Given the description of an element on the screen output the (x, y) to click on. 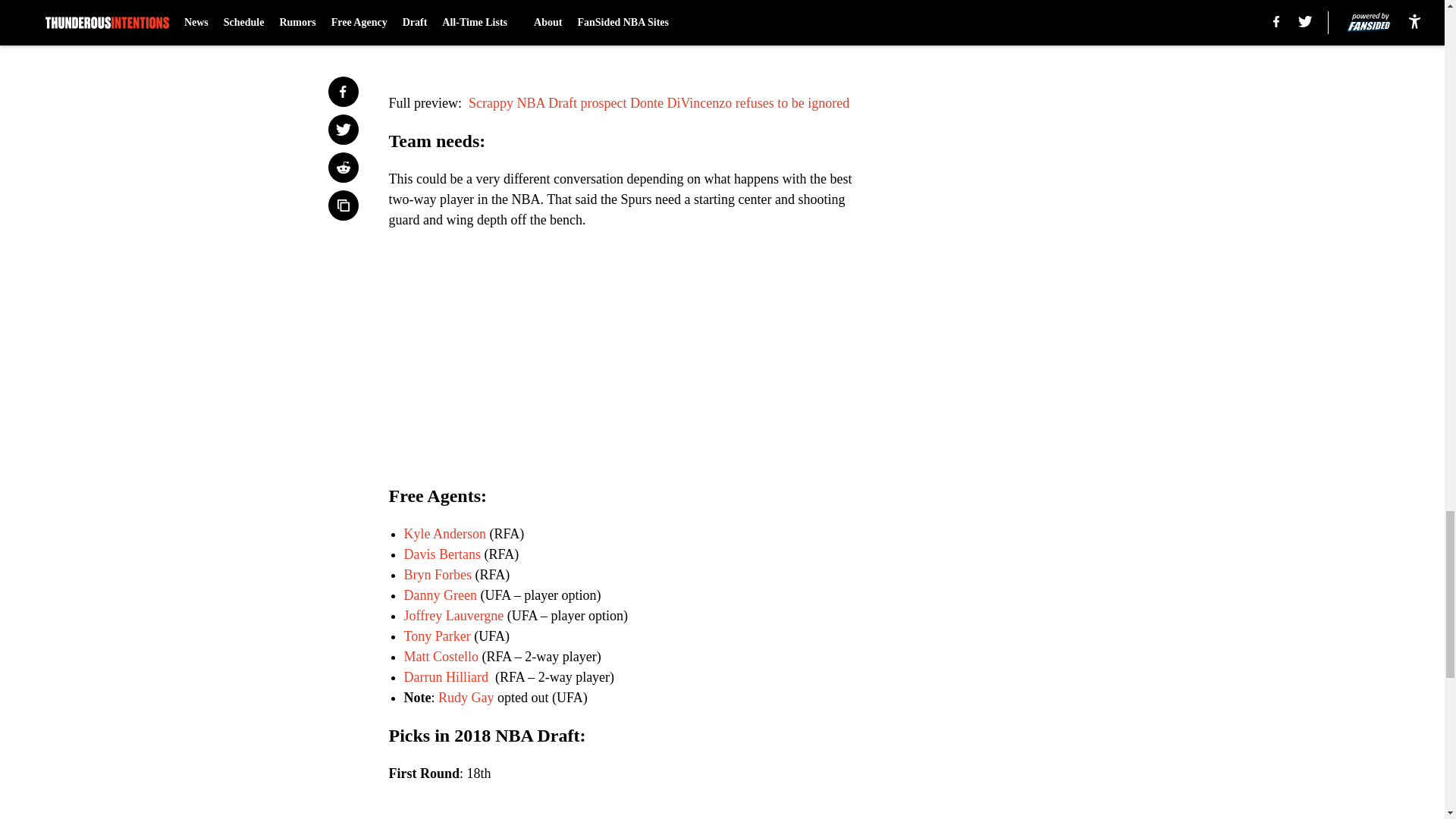
Matt Costello (441, 656)
Rudy Gay (466, 697)
Darrun Hilliard  (447, 676)
Danny Green (439, 595)
Kyle Anderson (443, 533)
Joffrey Lauvergne (453, 615)
Tony Parker (436, 635)
Davis Bertans (441, 554)
Bryn Forbes (437, 574)
